Given the description of an element on the screen output the (x, y) to click on. 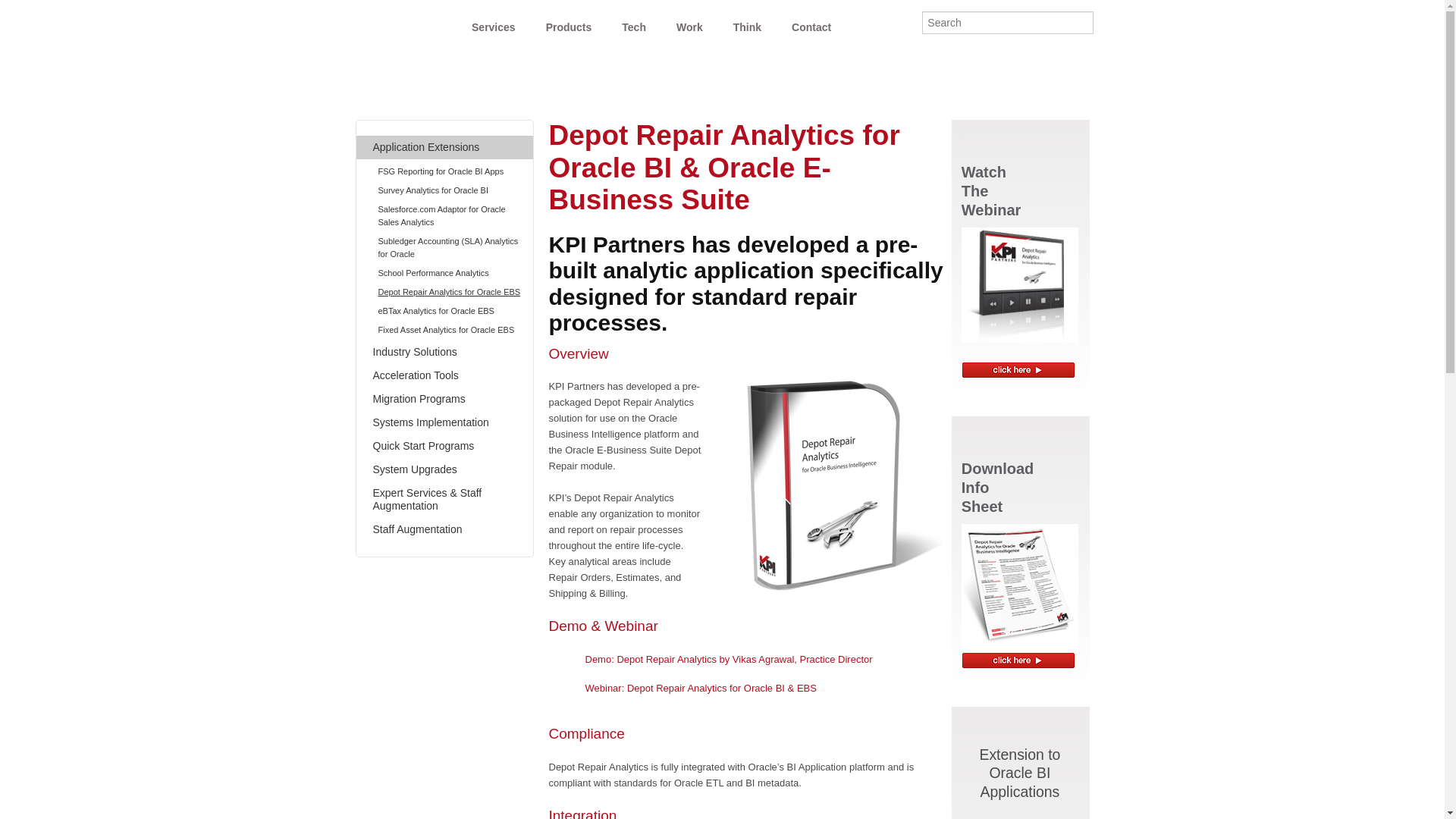
Work (689, 22)
Products (569, 22)
Contact (810, 22)
Tech (634, 22)
Think (746, 22)
Home (399, 28)
Services (494, 22)
